Given the description of an element on the screen output the (x, y) to click on. 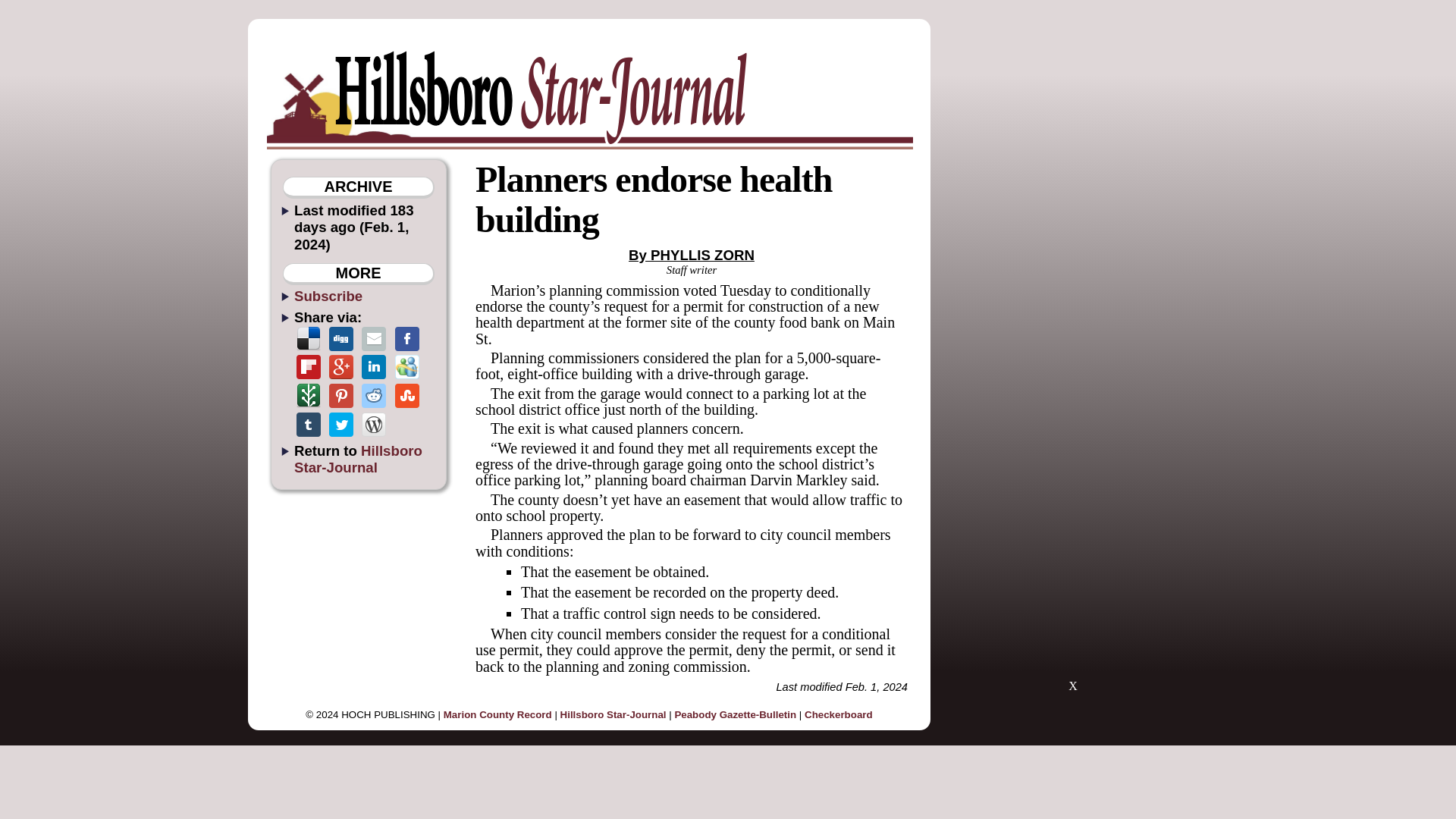
Subscribe (328, 295)
Marion County Record (497, 714)
Advertisement (1072, 591)
Checkerboard (838, 714)
Peabody Gazette-Bulletin (735, 714)
Hillsboro Star-Journal (358, 459)
Hillsboro Star-Journal (613, 714)
